Given the description of an element on the screen output the (x, y) to click on. 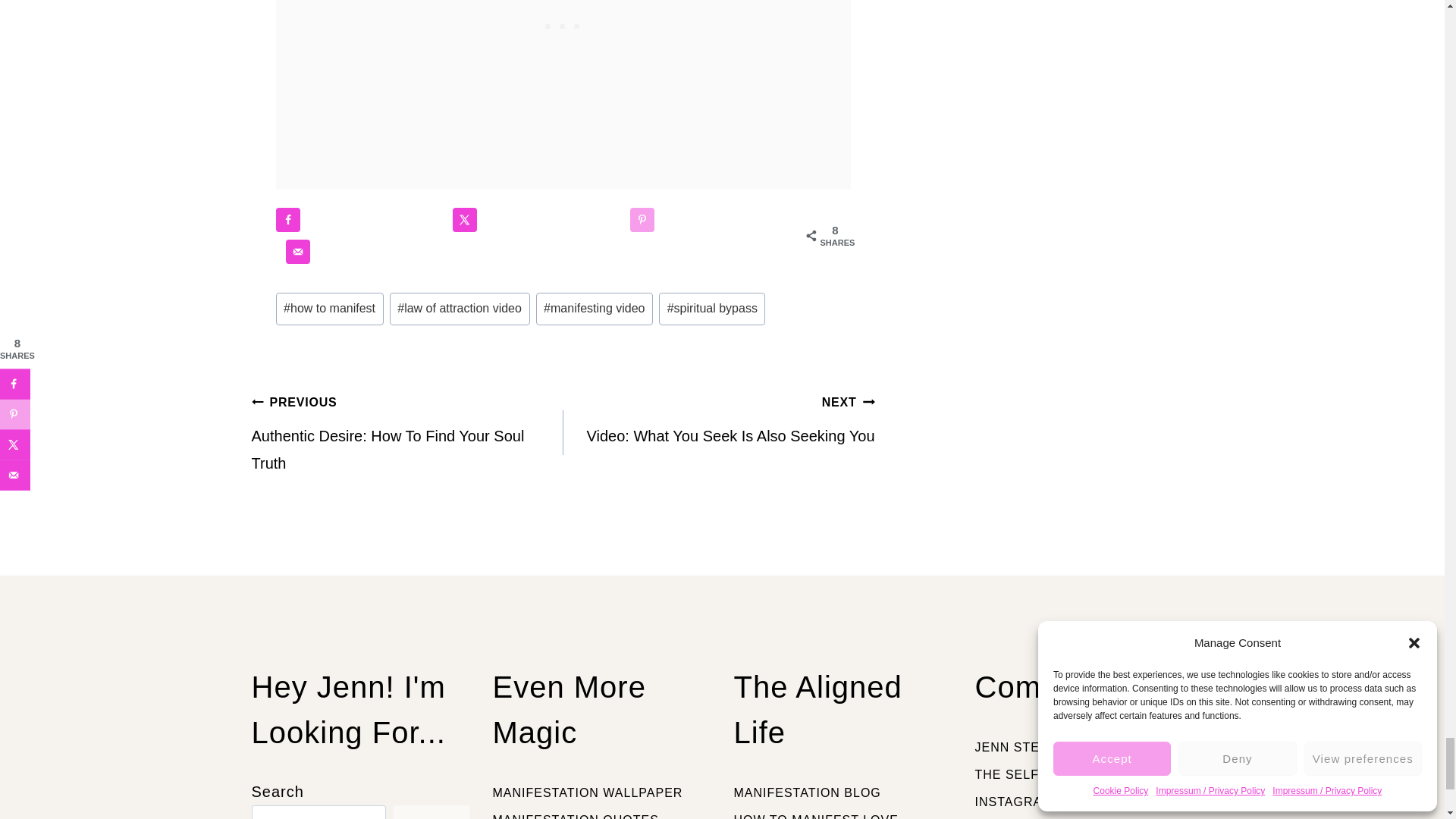
Send over email (297, 251)
manifesting video (593, 308)
Share on X (464, 219)
Share on Facebook (287, 219)
how to manifest (330, 308)
law of attraction video (459, 308)
spiritual bypass (712, 308)
Save to Pinterest (641, 219)
